Given the description of an element on the screen output the (x, y) to click on. 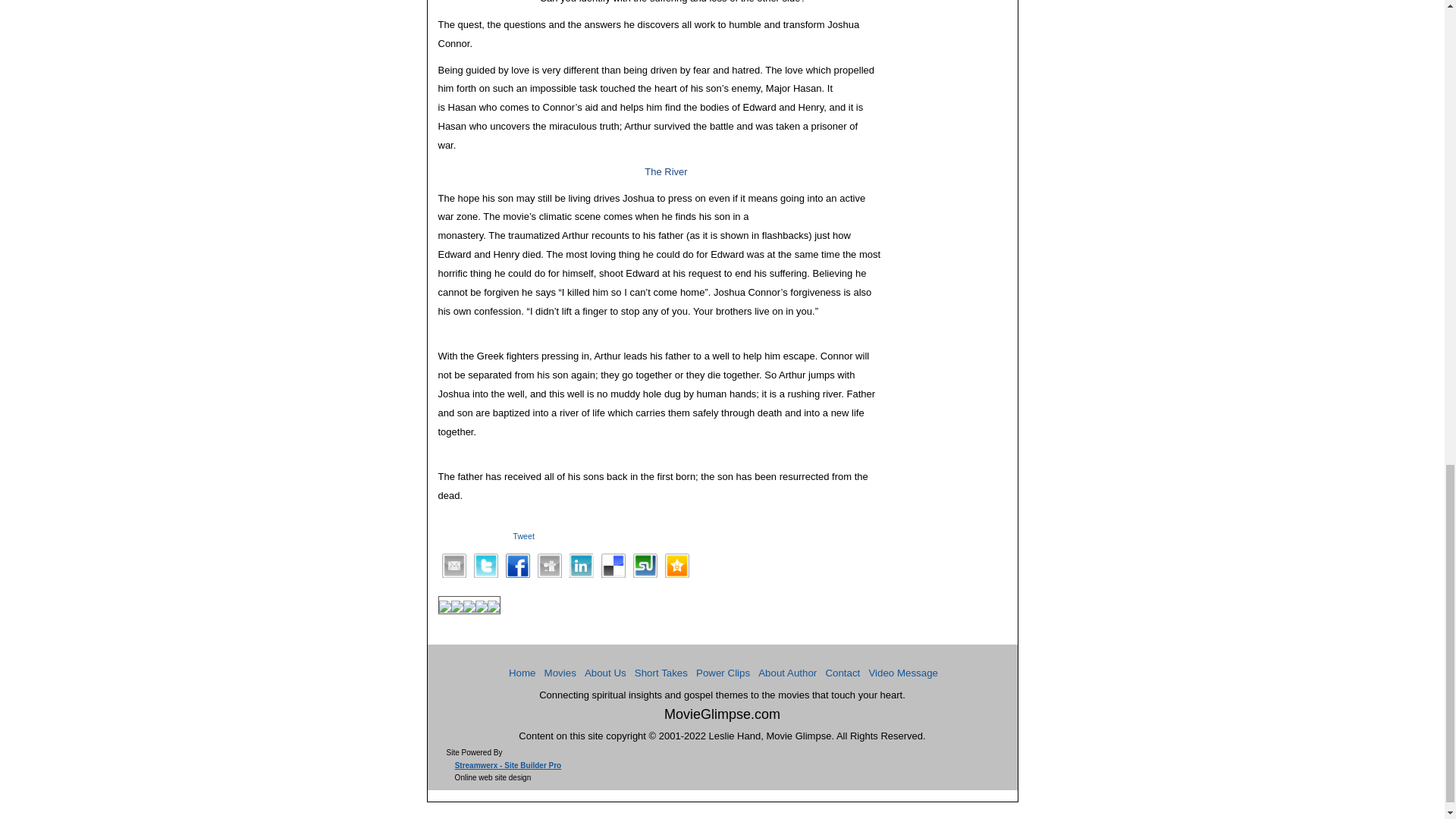
About Author (787, 672)
Facebook (517, 565)
Home (521, 672)
Twitter (485, 565)
Email (453, 565)
Movies (560, 672)
Contact (842, 672)
Video Message (902, 672)
Tweet (523, 536)
Digg (548, 565)
About Us (605, 672)
Streamwerx - Site Builder Pro (508, 765)
Power Clips (722, 672)
Short Takes (660, 672)
